Given the description of an element on the screen output the (x, y) to click on. 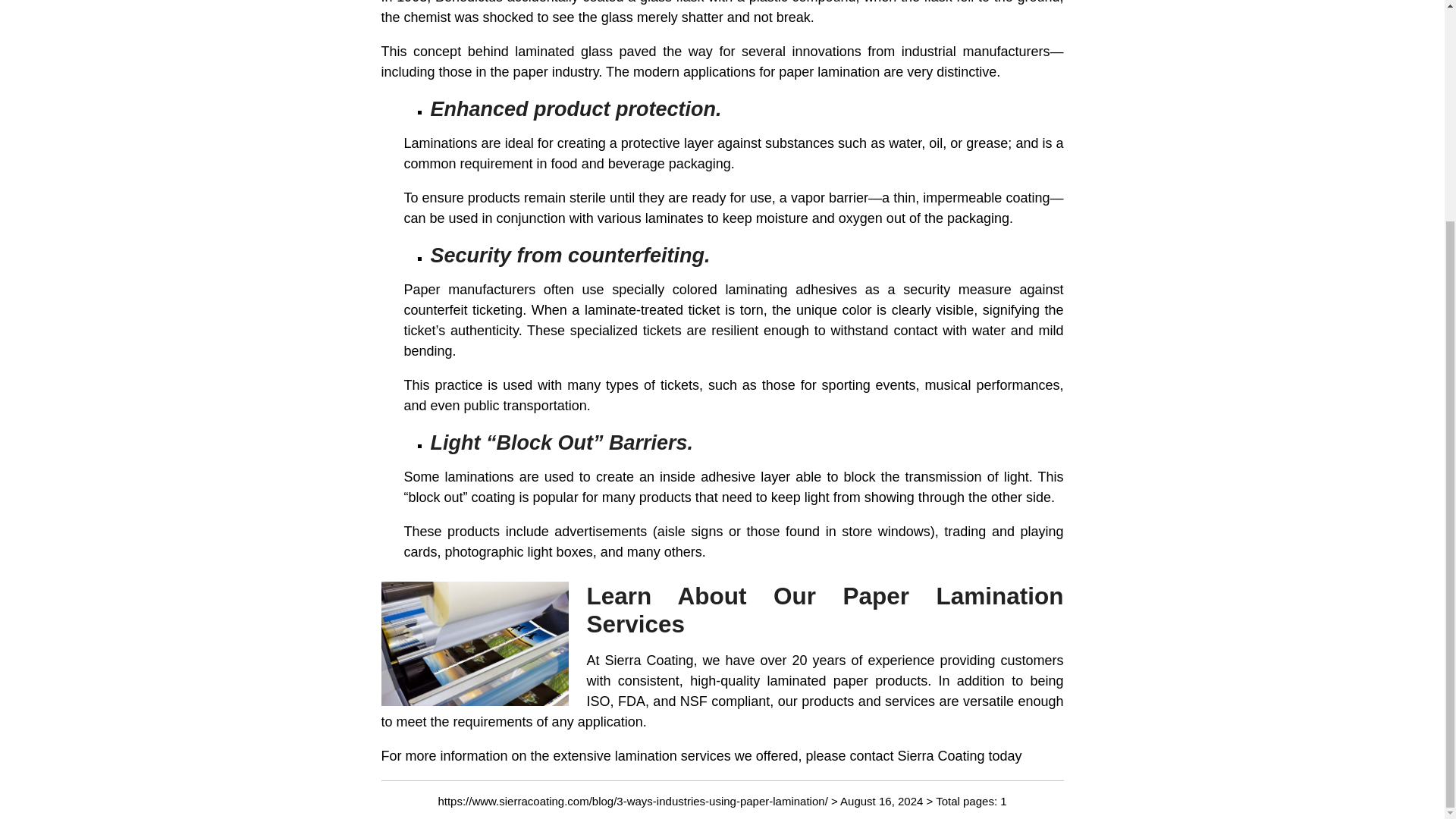
food and beverage packaging (640, 163)
Paper Lamination (828, 71)
contact Sierra Coating (916, 755)
paper lamination (828, 71)
Food Packaging Labels (640, 163)
